Given the description of an element on the screen output the (x, y) to click on. 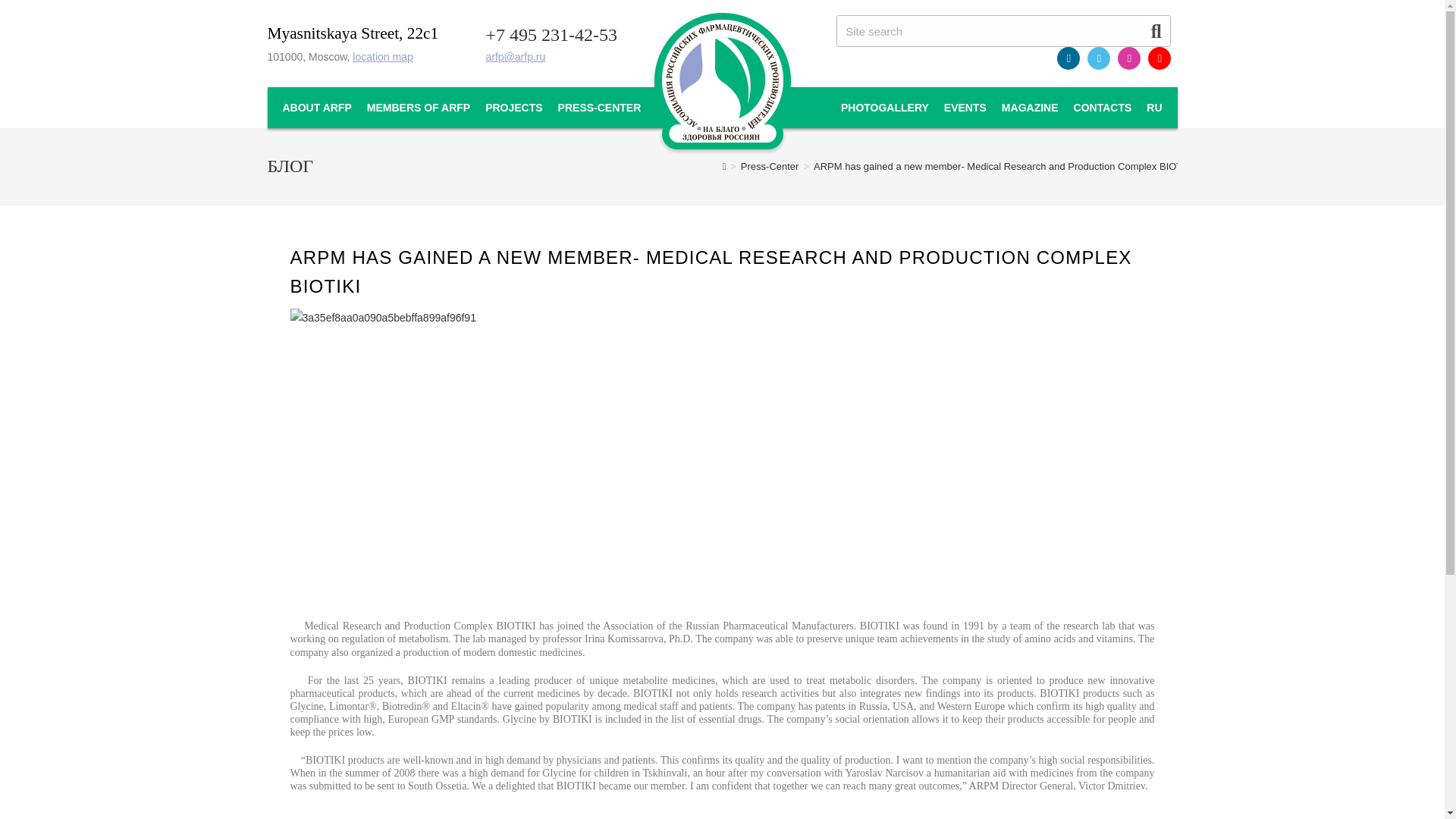
PROJECTS (513, 107)
ABOUT ARFP (316, 107)
location map (382, 56)
RU (1153, 107)
PHOTOGALLERY (884, 107)
MEMBERS OF ARFP (418, 107)
MAGAZINE (1029, 107)
CONTACTS (1102, 107)
PRESS-CENTER (599, 107)
EVENTS (965, 107)
